Given the description of an element on the screen output the (x, y) to click on. 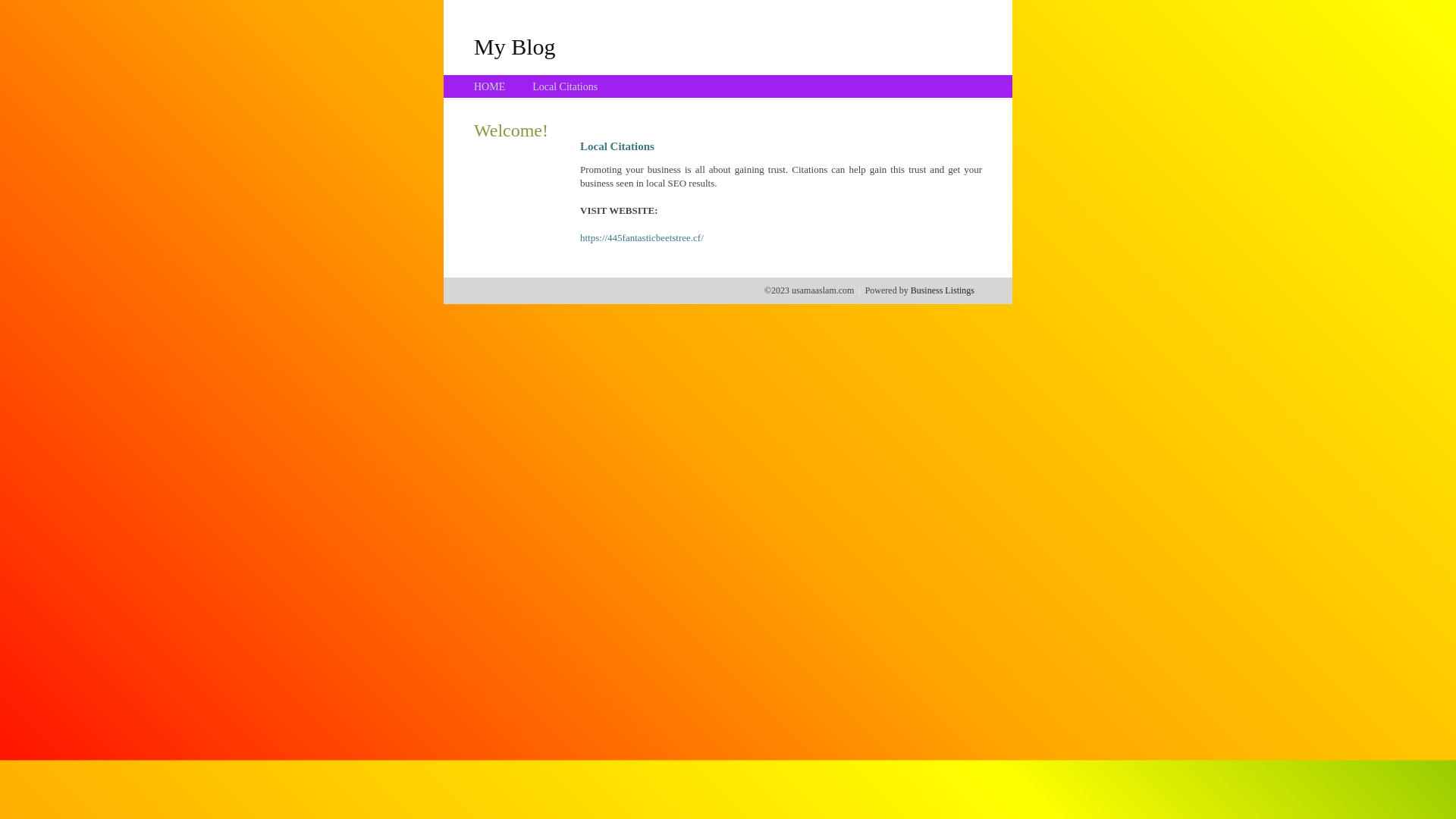
Business Listings Element type: text (942, 290)
My Blog Element type: text (514, 46)
Local Citations Element type: text (564, 86)
HOME Element type: text (489, 86)
https://445fantasticbeetstree.cf/ Element type: text (641, 237)
